Given the description of an element on the screen output the (x, y) to click on. 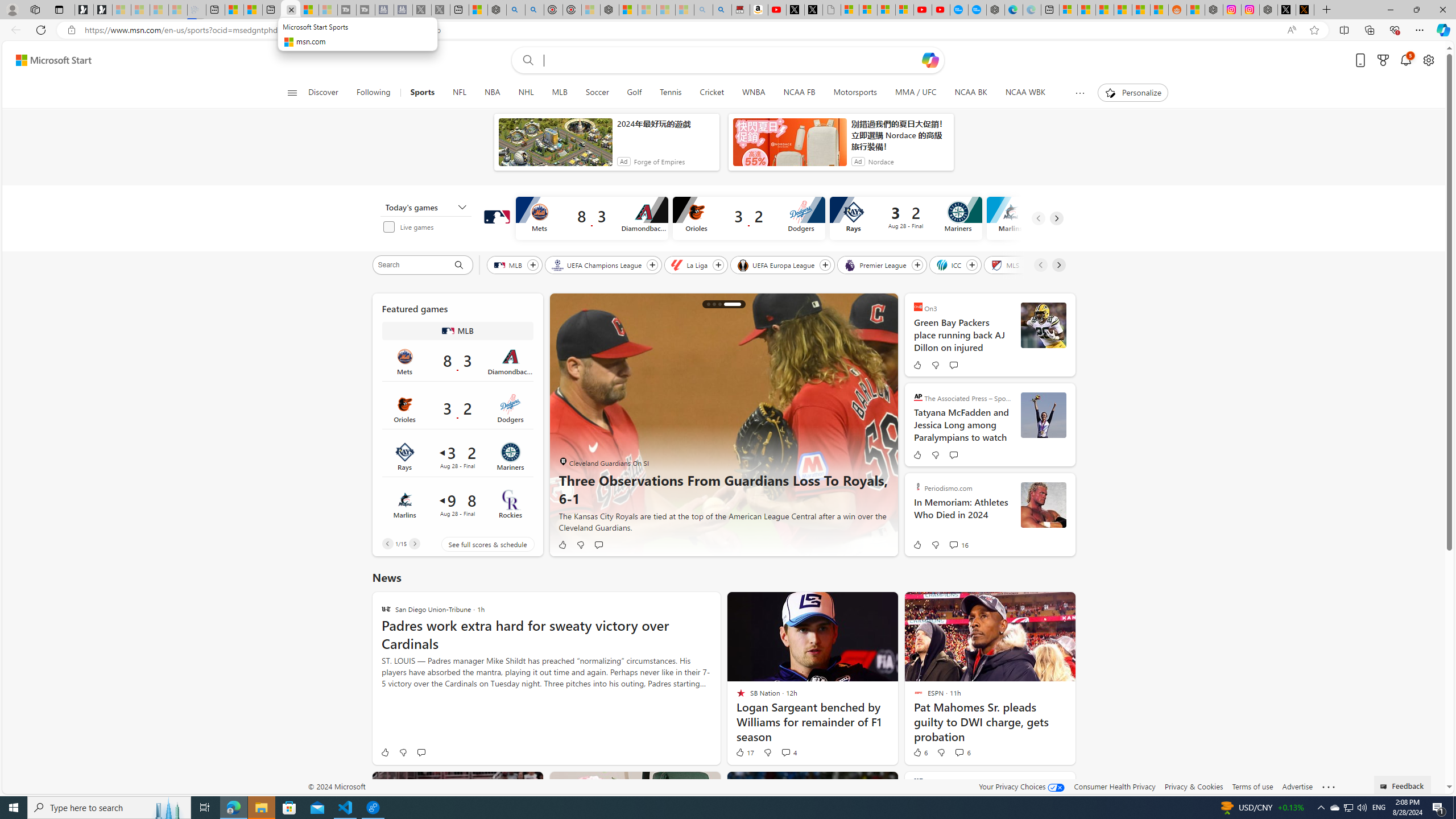
MLB (507, 264)
UEFA Europa League (777, 264)
(Photo by Kevin Sabitus/Getty Images) (1042, 325)
Nordace - Nordace Siena Is Not An Ordinary Backpack (609, 9)
View comments 6 Comment (962, 752)
Live games Unchecked (428, 226)
Your Privacy Choices (1021, 786)
WNBA (753, 92)
